Given the description of an element on the screen output the (x, y) to click on. 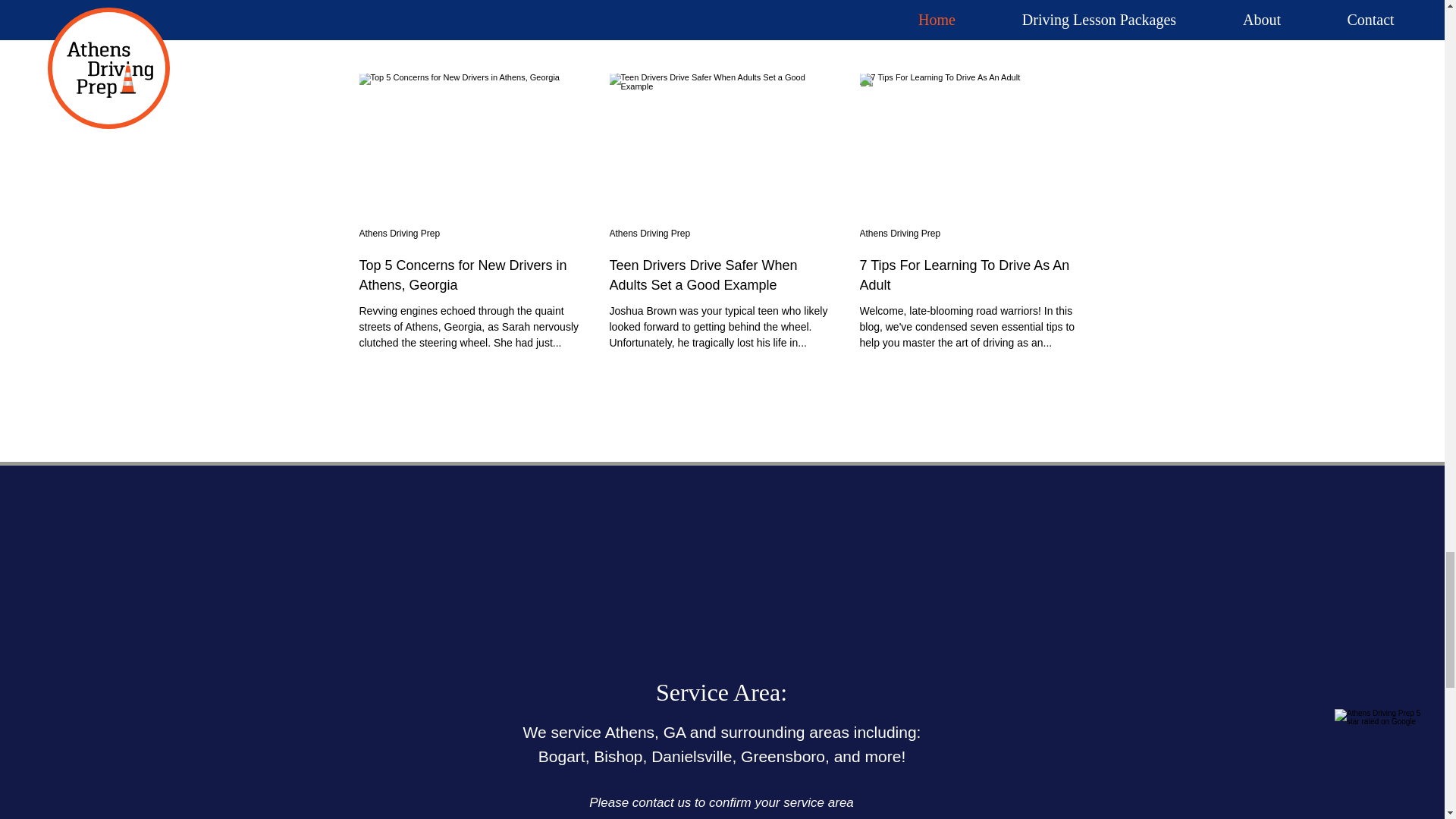
7 Tips For Learning To Drive As An Adult (973, 275)
Top 5 Concerns for New Drivers in Athens, Georgia (472, 275)
Athens Driving Prep (900, 233)
Teen Drivers Drive Safer When Adults Set a Good Example (722, 275)
Bogart (561, 755)
Athens Driving Prep (650, 233)
Athens Driving Prep (400, 233)
